Given the description of an element on the screen output the (x, y) to click on. 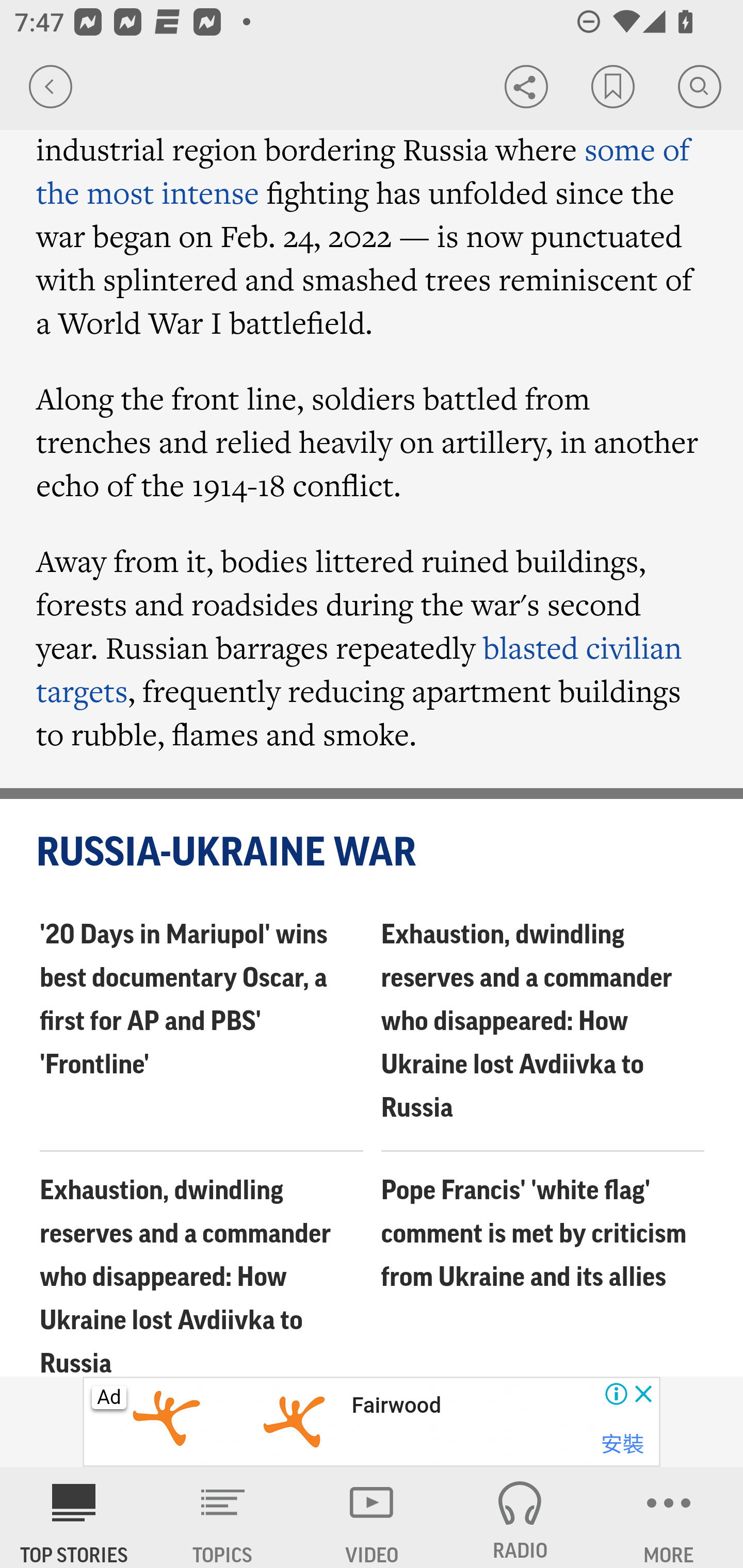
some of the most intense (363, 171)
blasted civilian targets (359, 669)
RUSSIA-UKRAINE WAR (372, 852)
Fairwood (395, 1405)
安裝 (621, 1444)
AP News TOP STORIES (74, 1517)
TOPICS (222, 1517)
VIDEO (371, 1517)
RADIO (519, 1517)
MORE (668, 1517)
